Given the description of an element on the screen output the (x, y) to click on. 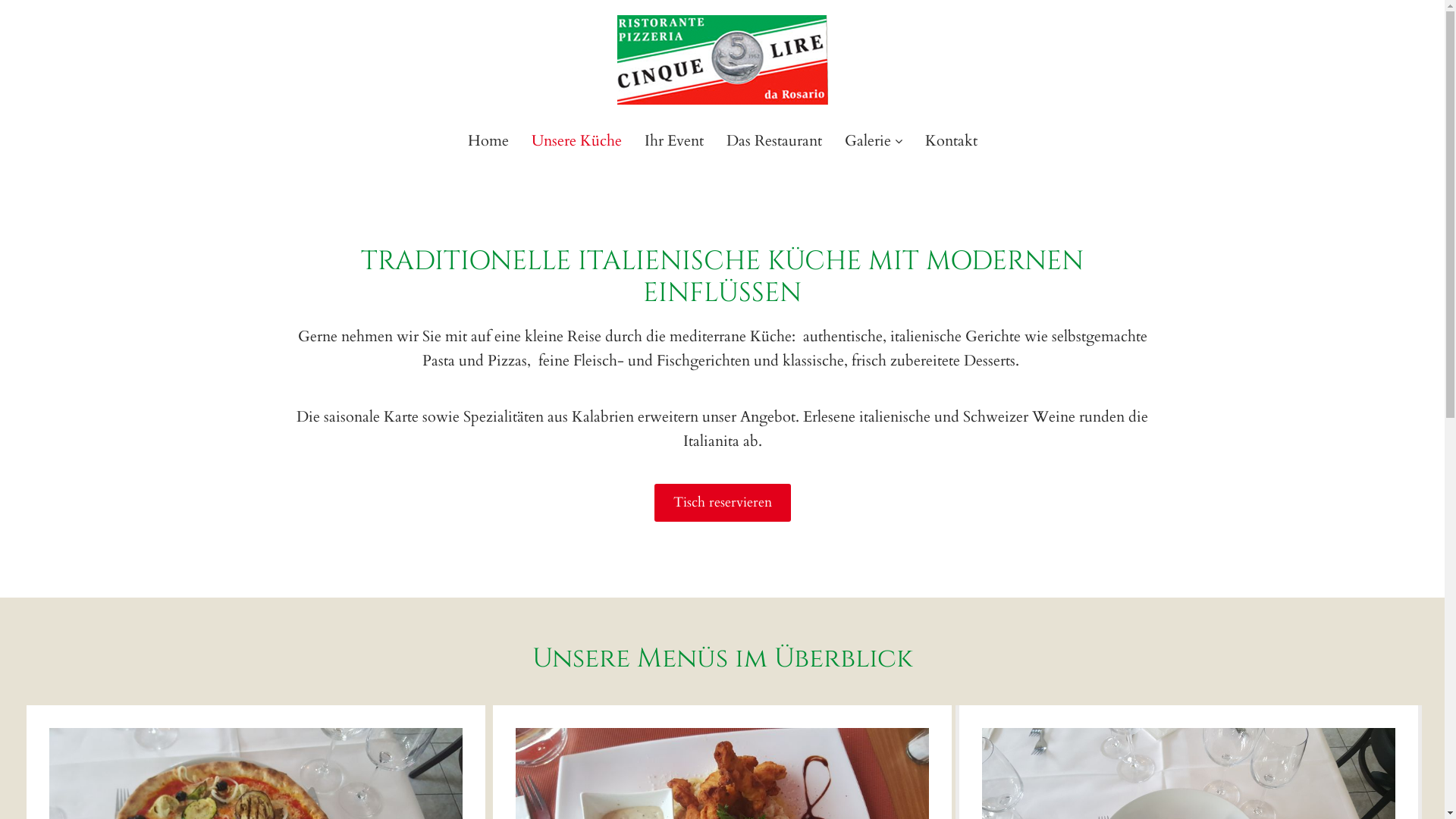
Kontakt Element type: text (951, 140)
Home Element type: text (487, 140)
Galerie Element type: text (873, 140)
Tisch reservieren Element type: text (721, 502)
Das Restaurant Element type: text (774, 140)
Ihr Event Element type: text (673, 140)
